Given the description of an element on the screen output the (x, y) to click on. 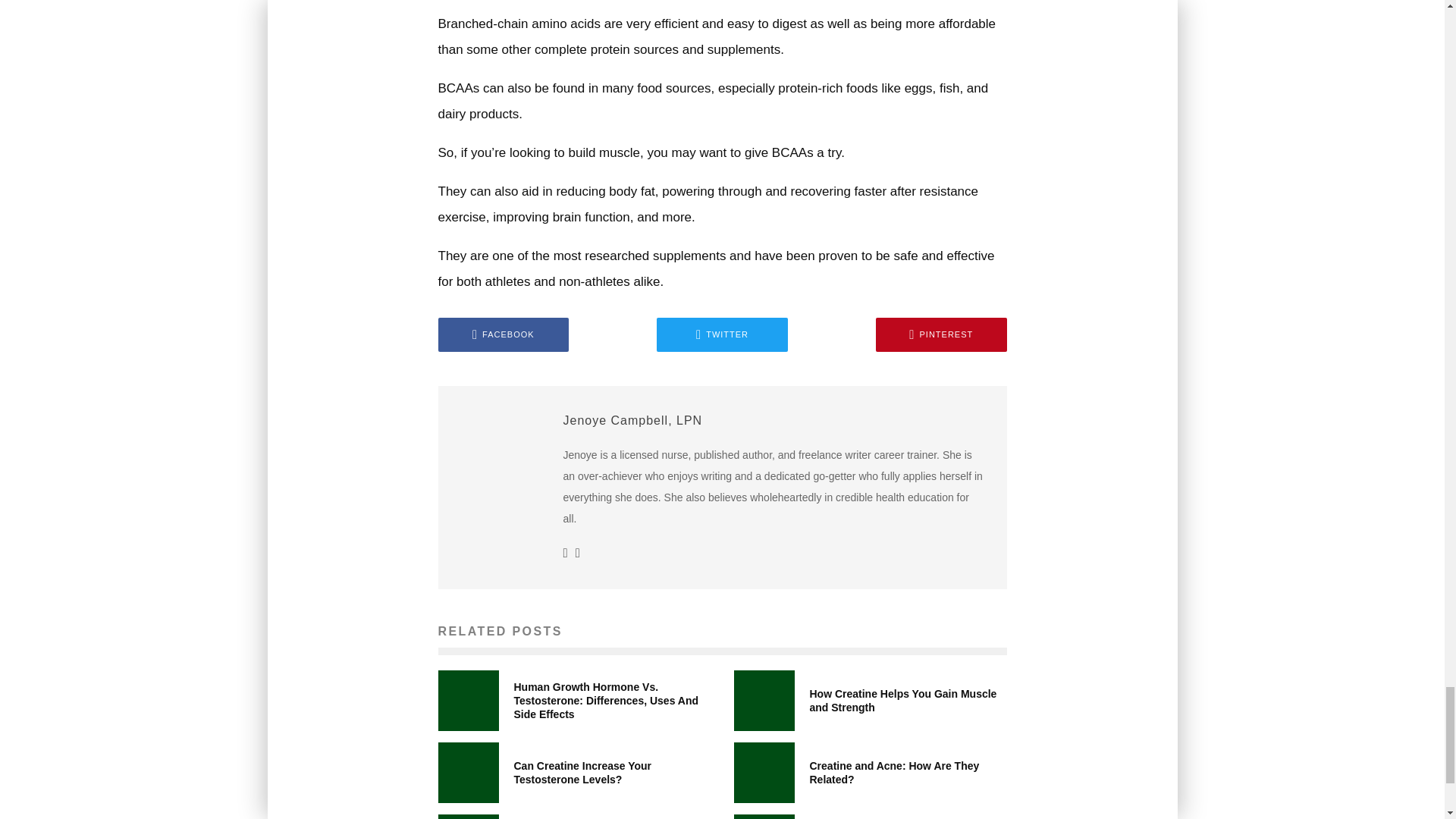
FACEBOOK (503, 334)
TWITTER (721, 334)
PINTEREST (941, 334)
How Creatine Helps You Gain Muscle and Strength (903, 700)
Jenoye Campbell, LPN (631, 420)
